Given the description of an element on the screen output the (x, y) to click on. 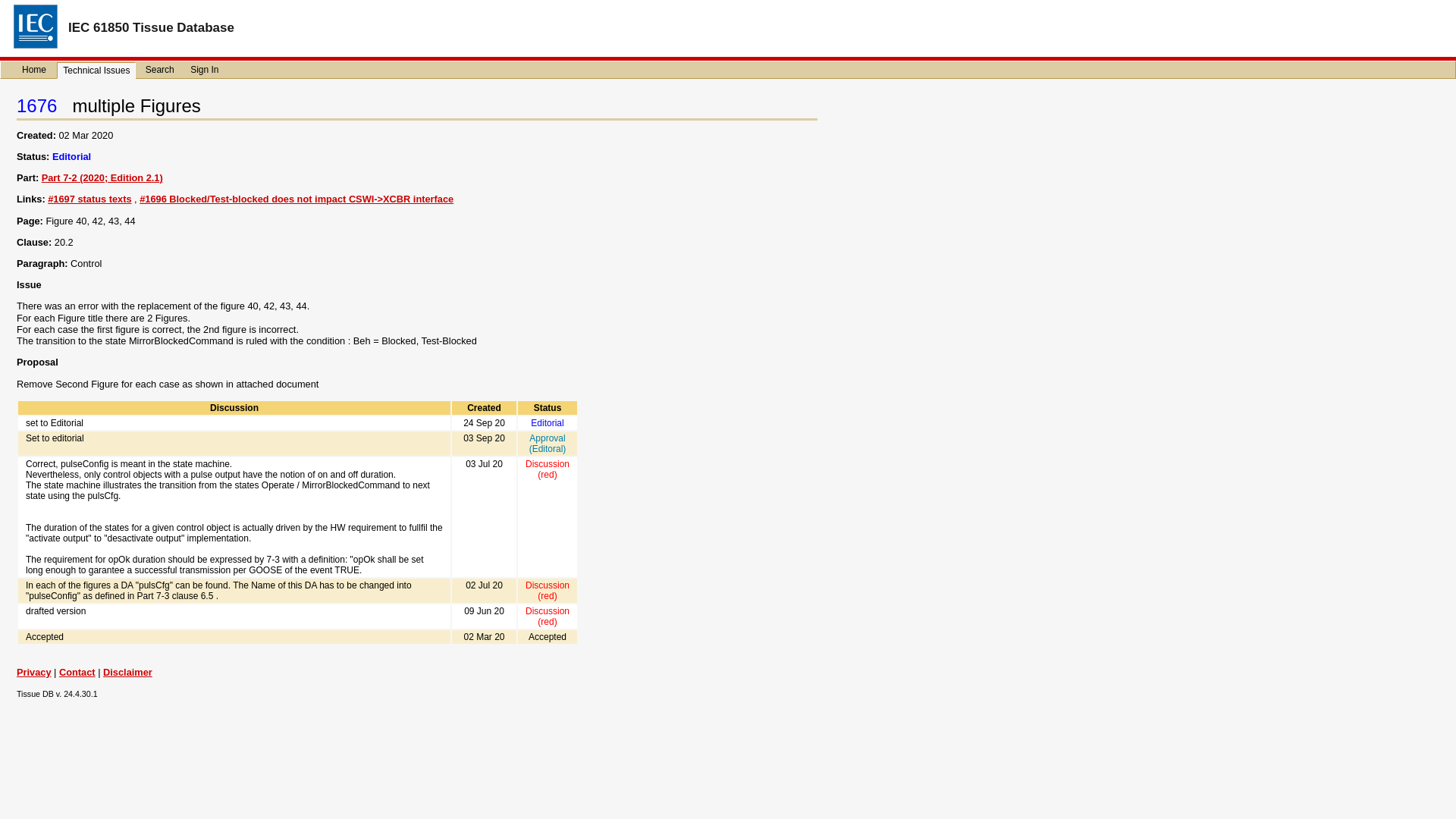
Home (34, 69)
Technical Issues (95, 70)
Privacy (33, 672)
Disclaimer (127, 672)
Contact (77, 672)
Search (159, 69)
Sign In (204, 69)
